Given the description of an element on the screen output the (x, y) to click on. 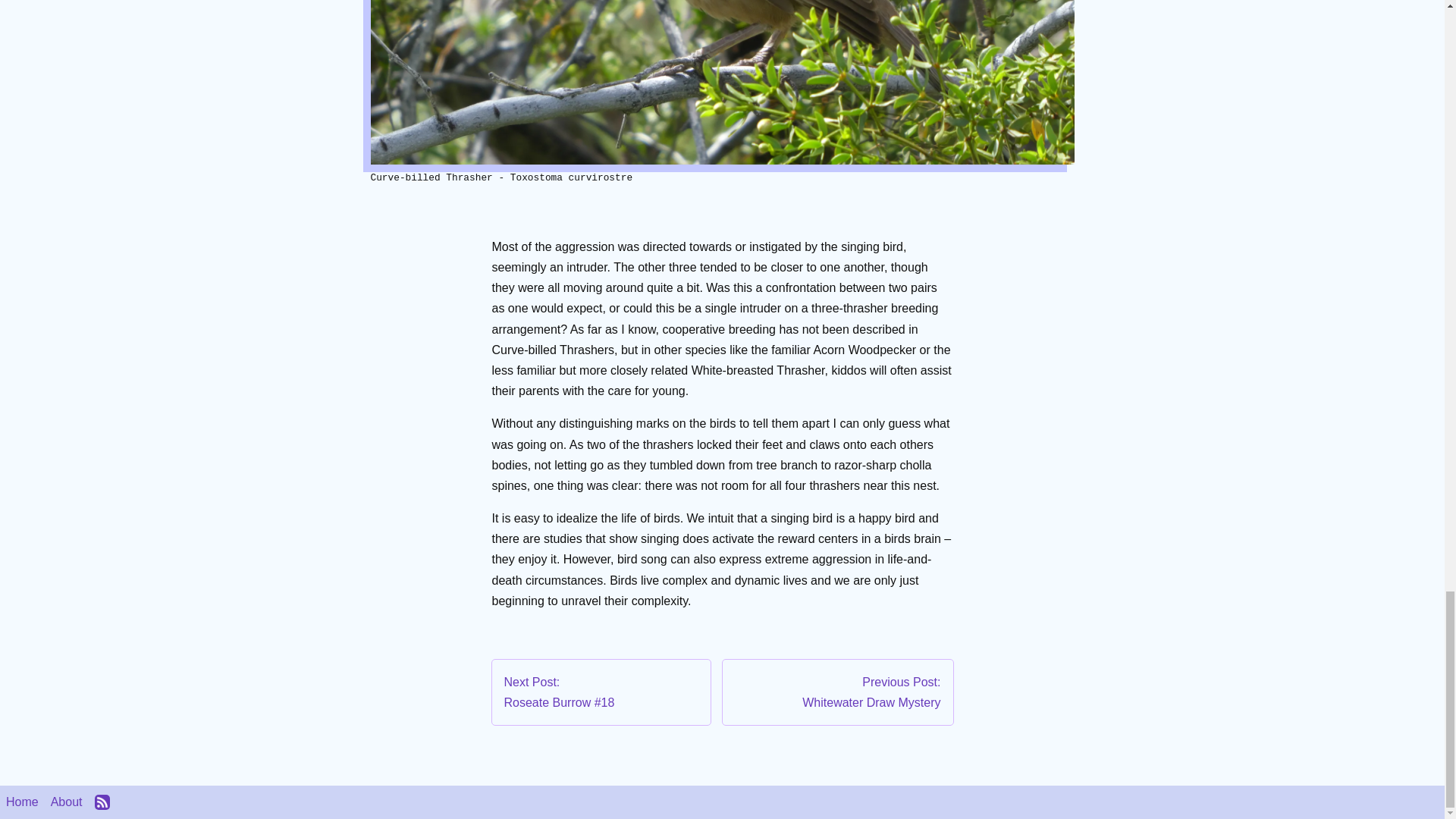
Home (22, 801)
About (66, 801)
RSS feed (837, 692)
